Given the description of an element on the screen output the (x, y) to click on. 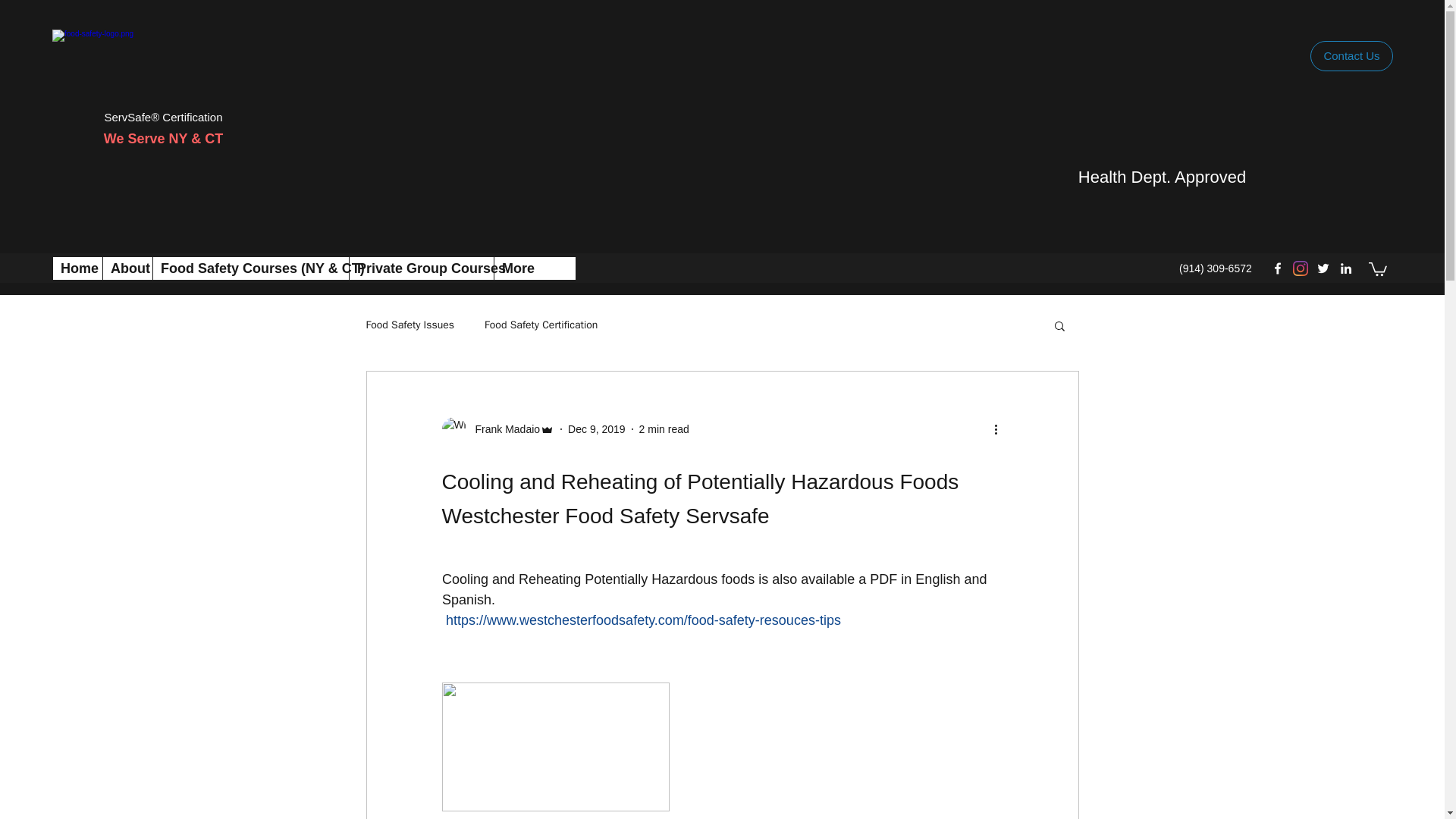
Frank Madaio (497, 428)
Food Safety Issues (409, 325)
Contact Us (1351, 55)
About (126, 268)
Frank Madaio (502, 429)
Food Safety Certification (540, 325)
Dec 9, 2019 (596, 428)
Home (76, 268)
Private Group Courses (421, 268)
2 min read (663, 428)
